Given the description of an element on the screen output the (x, y) to click on. 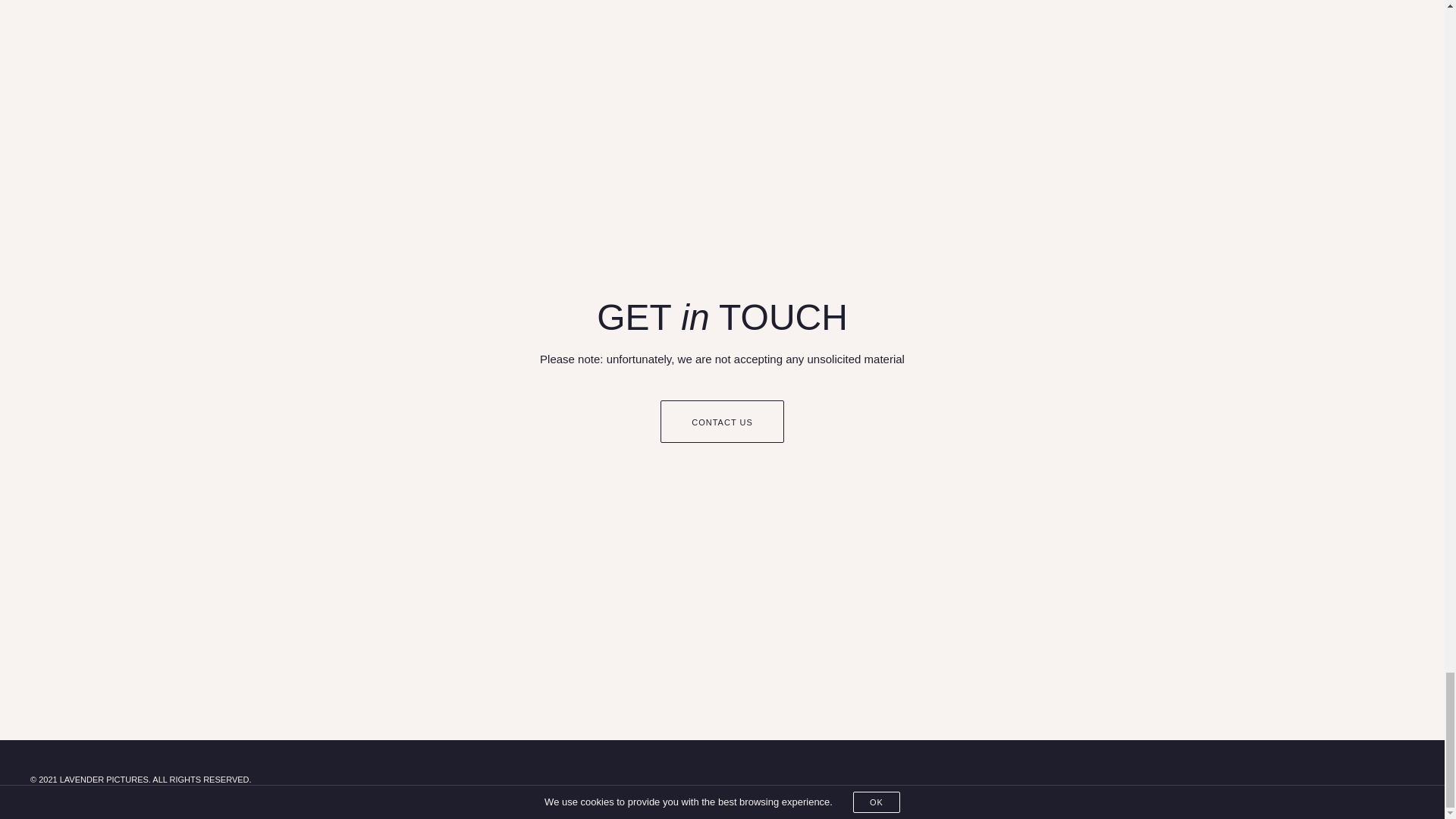
CONTACT US (722, 421)
